Given the description of an element on the screen output the (x, y) to click on. 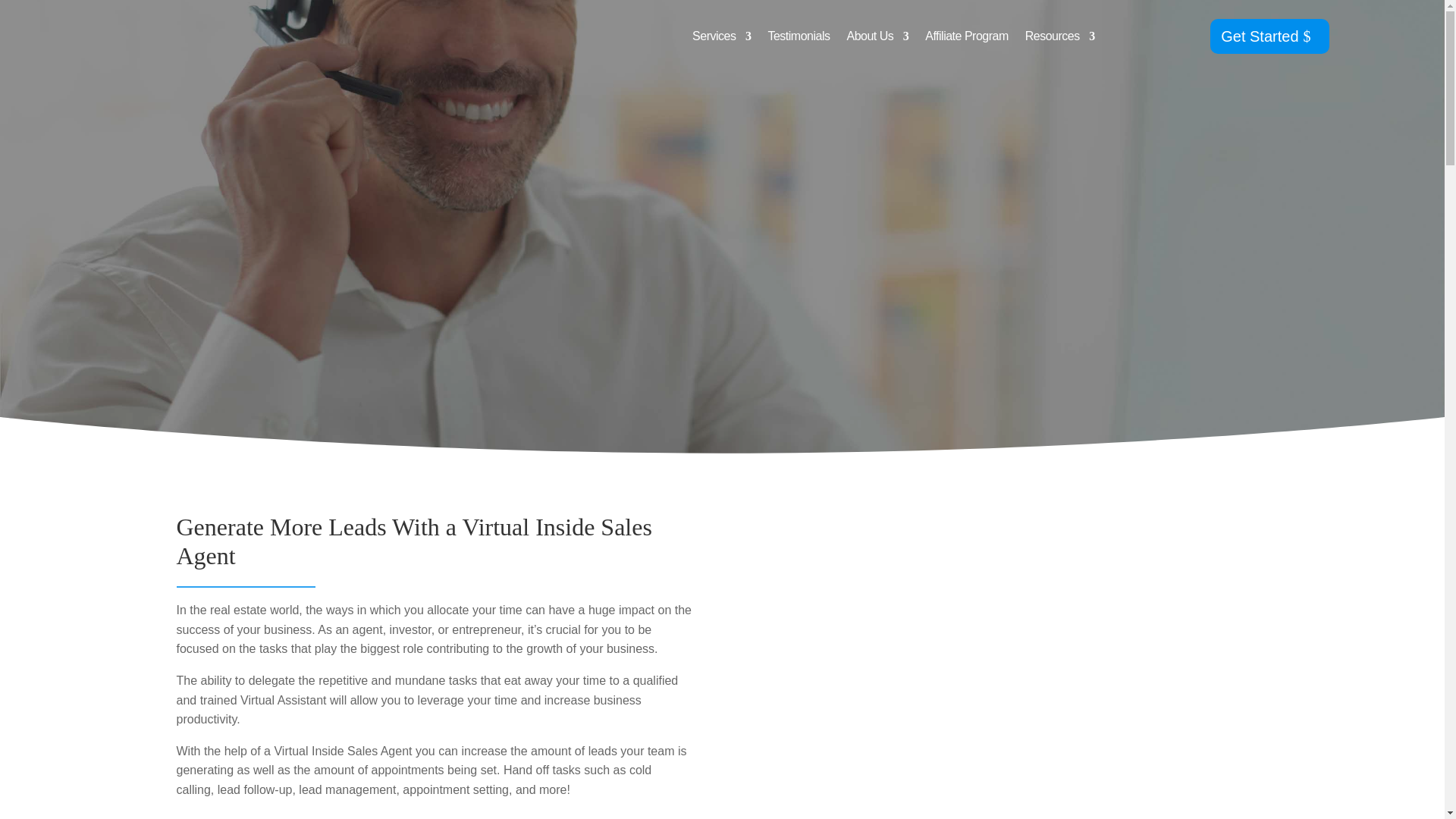
Testimonials (798, 36)
Services (722, 36)
Resources (1059, 36)
Get Started (1268, 36)
About Us (876, 36)
Affiliate Program (965, 36)
